Given the description of an element on the screen output the (x, y) to click on. 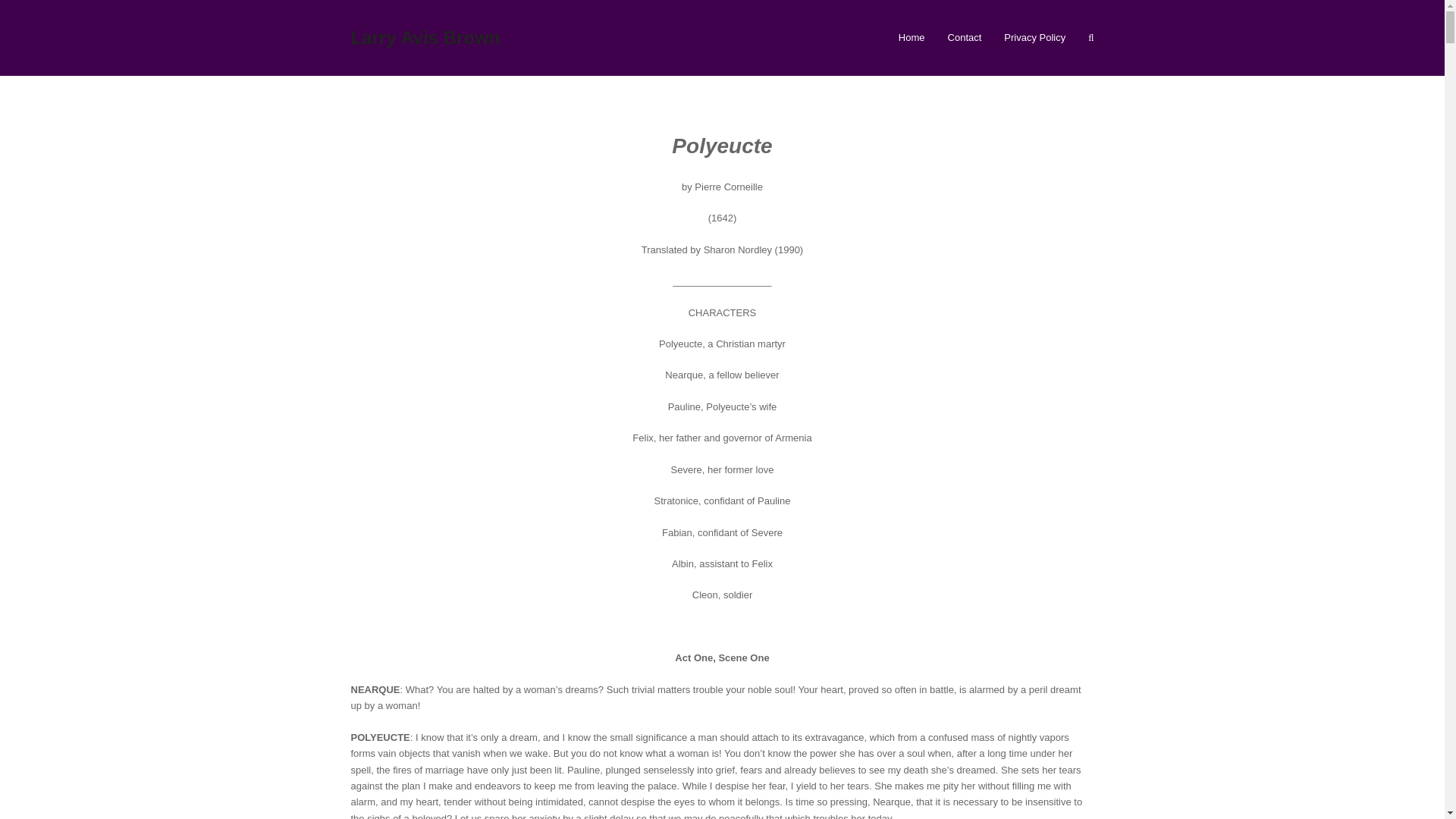
Larry Avis Brown (424, 37)
Home (911, 37)
Privacy Policy (1034, 37)
Contact (964, 37)
